Given the description of an element on the screen output the (x, y) to click on. 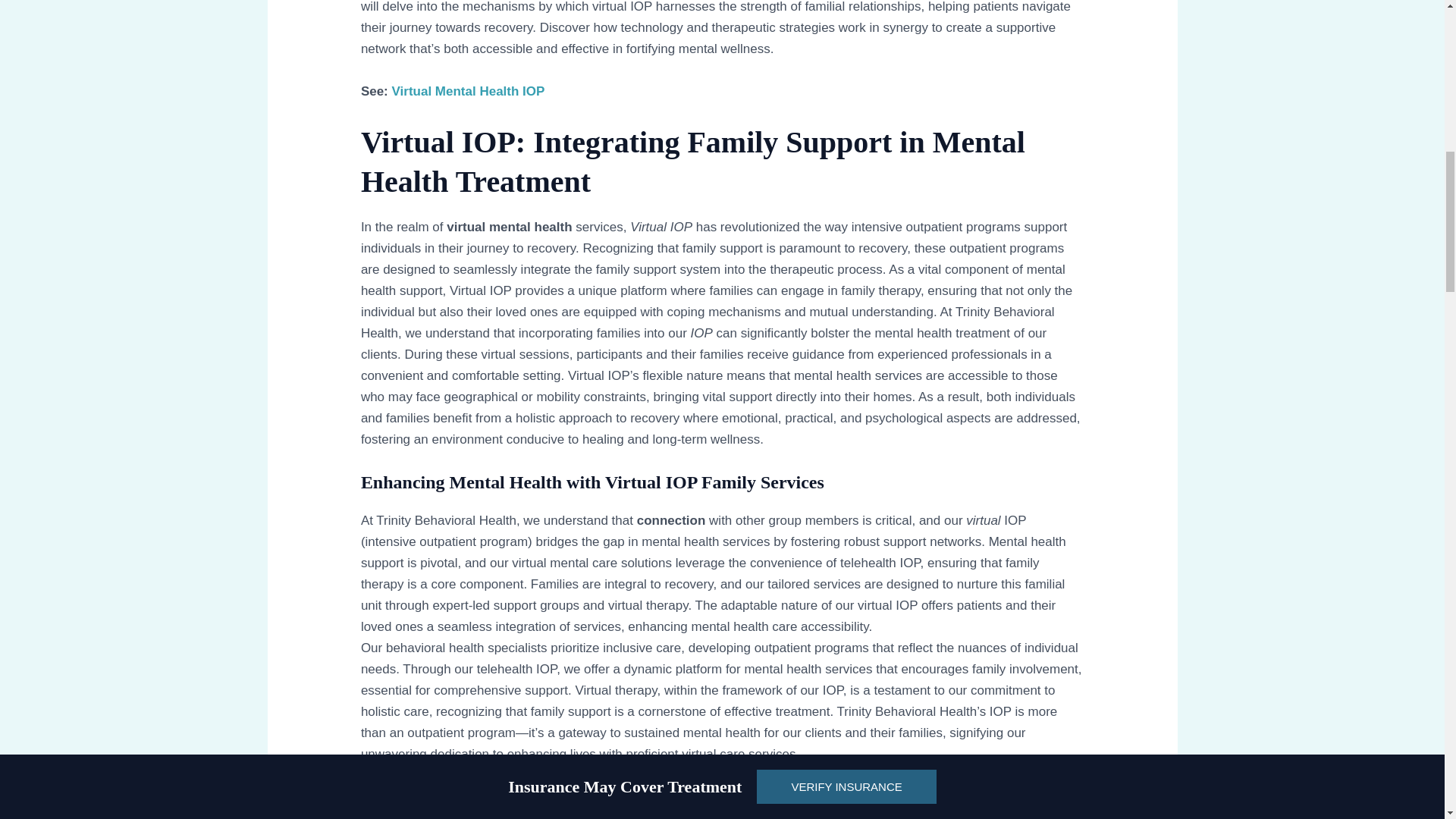
Virtual Mental Health IOP (467, 91)
